Given the description of an element on the screen output the (x, y) to click on. 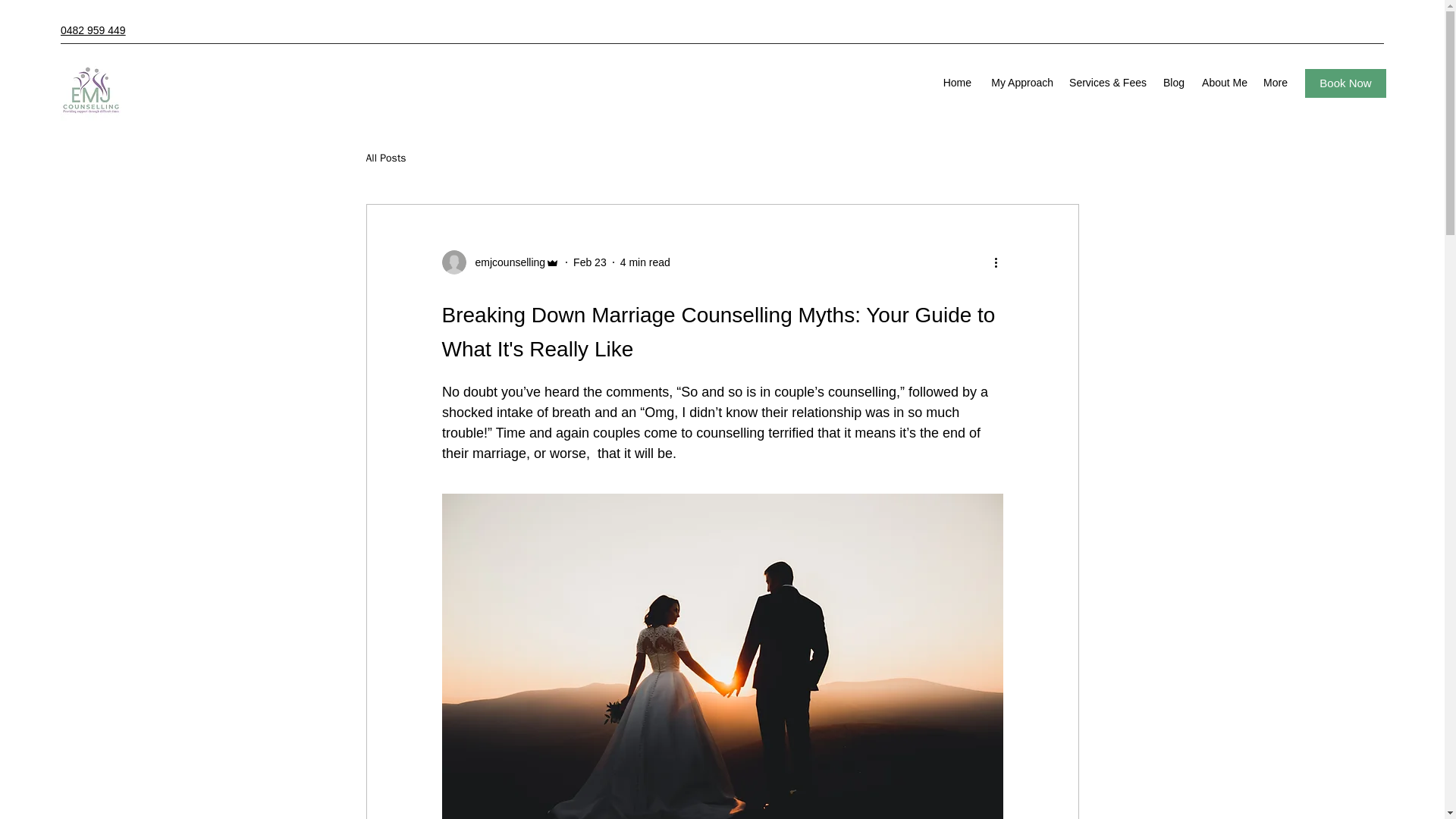
About Me (1223, 82)
My Approach (1019, 82)
Book Now (1345, 82)
0482 959 449 (93, 30)
4 min read (644, 262)
All Posts (385, 158)
Blog (1173, 82)
Feb 23 (590, 262)
emjcounselling (504, 262)
emjcounselling (500, 262)
